Given the description of an element on the screen output the (x, y) to click on. 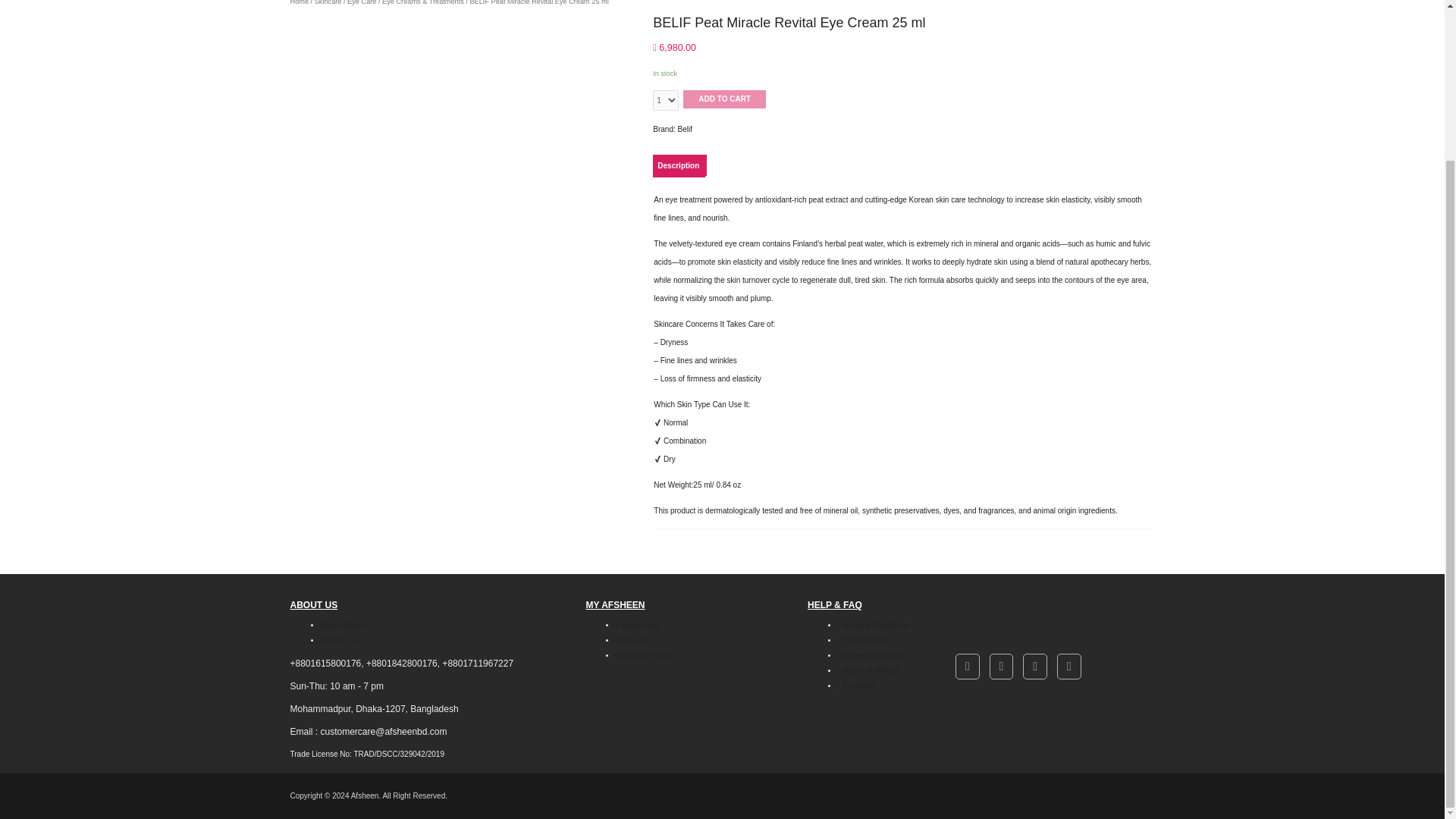
Qty (665, 100)
